Given the description of an element on the screen output the (x, y) to click on. 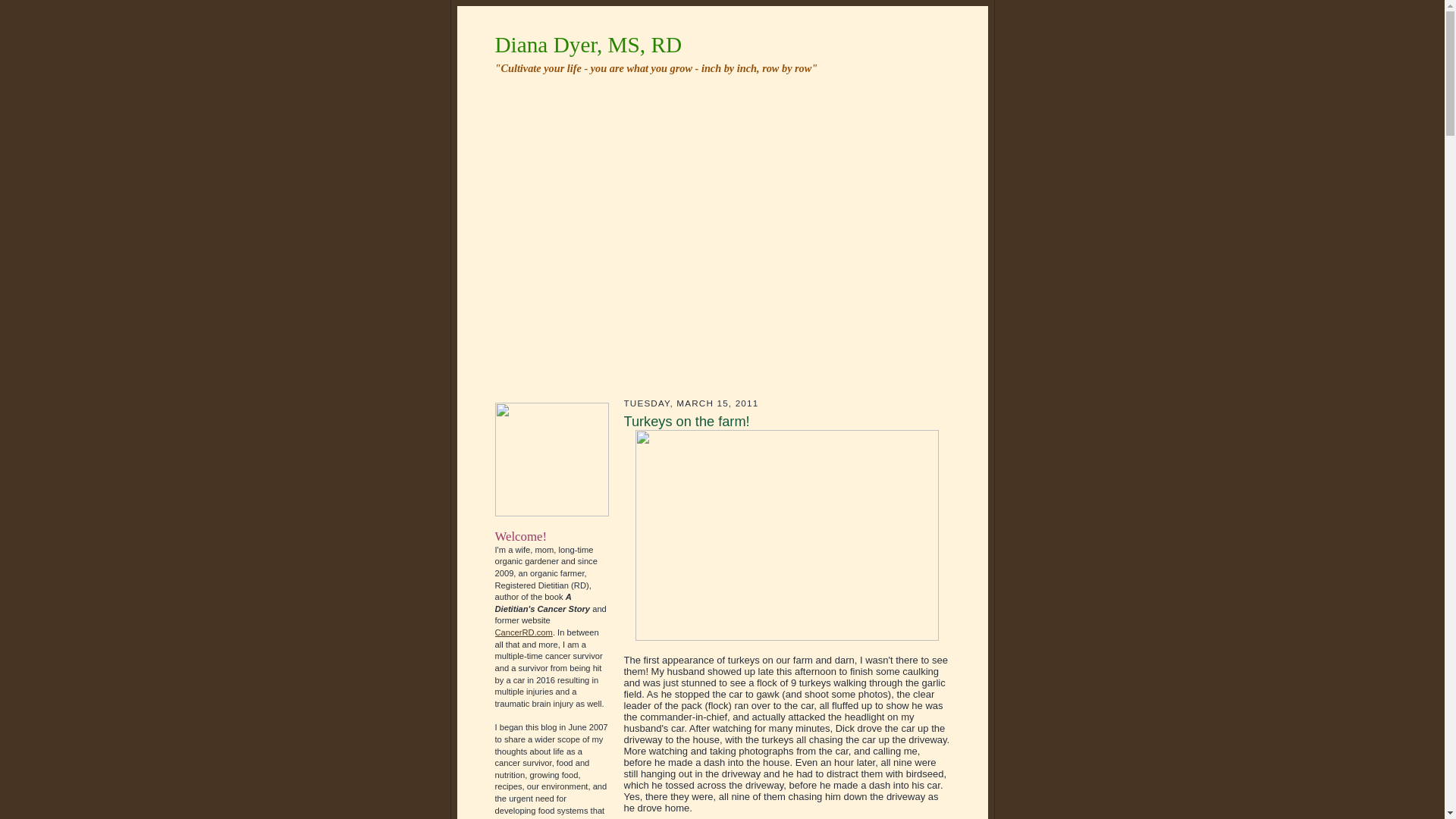
Diana Dyer, MS, RD (588, 44)
CancerRD.com (523, 632)
